Given the description of an element on the screen output the (x, y) to click on. 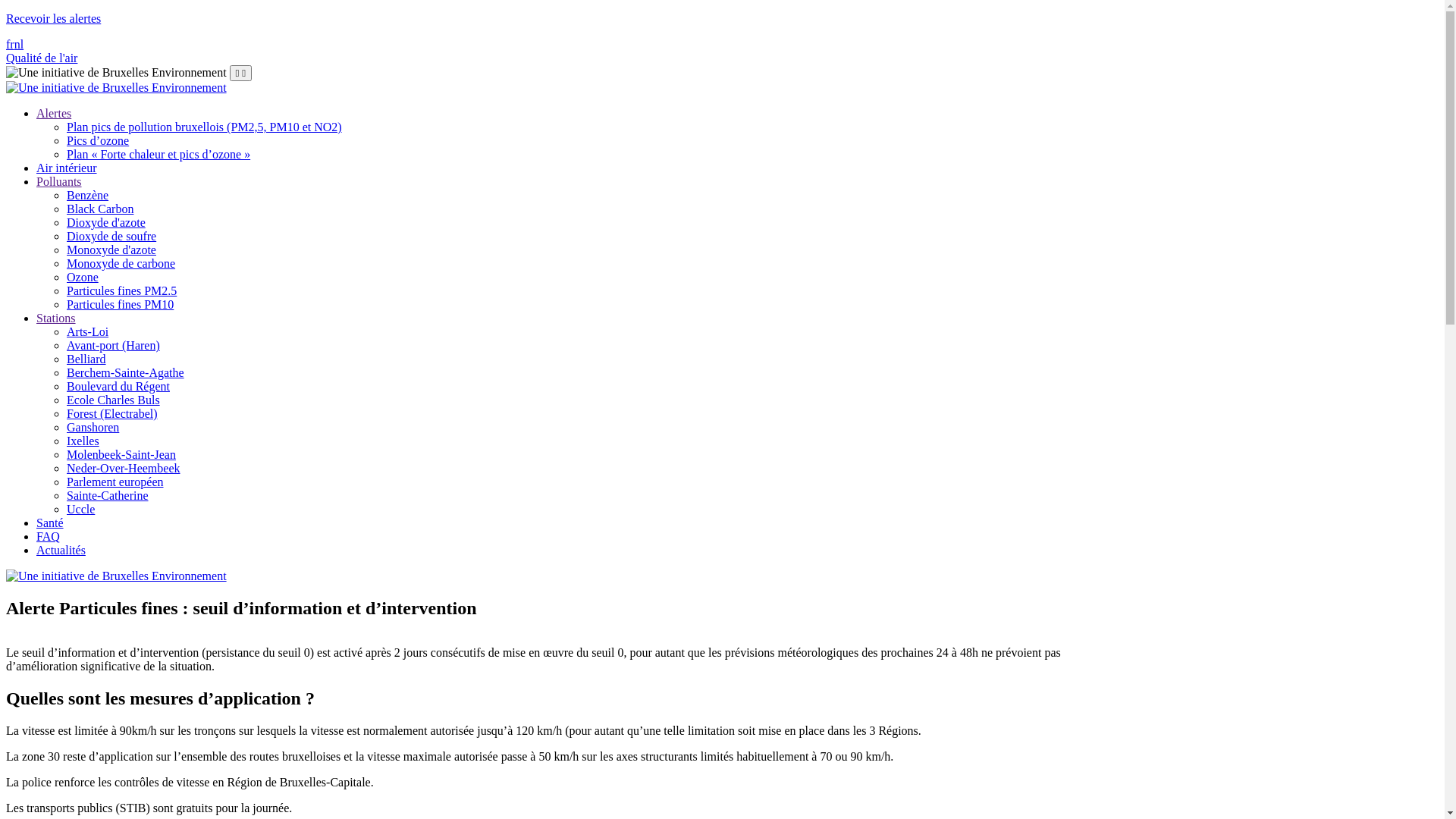
Plan pics de pollution bruxellois (PM2,5, PM10 et NO2) Element type: text (204, 126)
fr Element type: text (10, 43)
Aller au contenu principal Element type: text (6, 12)
Particules fines PM10 Element type: text (119, 304)
Berchem-Sainte-Agathe Element type: text (125, 372)
Dioxyde d'azote Element type: text (105, 222)
Ecole Charles Buls Element type: text (113, 399)
Black Carbon Element type: text (99, 208)
Polluants Element type: text (58, 181)
Molenbeek-Saint-Jean Element type: text (120, 454)
FAQ Element type: text (47, 536)
Ozone Element type: text (82, 276)
Ganshoren Element type: text (92, 426)
Monoxyde de carbone Element type: text (120, 263)
Neder-Over-Heembeek Element type: text (123, 467)
Ixelles Element type: text (82, 440)
Uccle Element type: text (80, 508)
Alertes Element type: text (53, 112)
Monoxyde d'azote Element type: text (111, 249)
Particules fines PM2.5 Element type: text (121, 290)
Sainte-Catherine Element type: text (107, 495)
Recevoir les alertes Element type: text (53, 18)
Dioxyde de soufre Element type: text (111, 235)
Belliard Element type: text (86, 358)
Arts-Loi Element type: text (87, 331)
Avant-port (Haren) Element type: text (113, 344)
Stations Element type: text (55, 317)
Forest (Electrabel) Element type: text (111, 413)
nl Element type: text (18, 43)
